Given the description of an element on the screen output the (x, y) to click on. 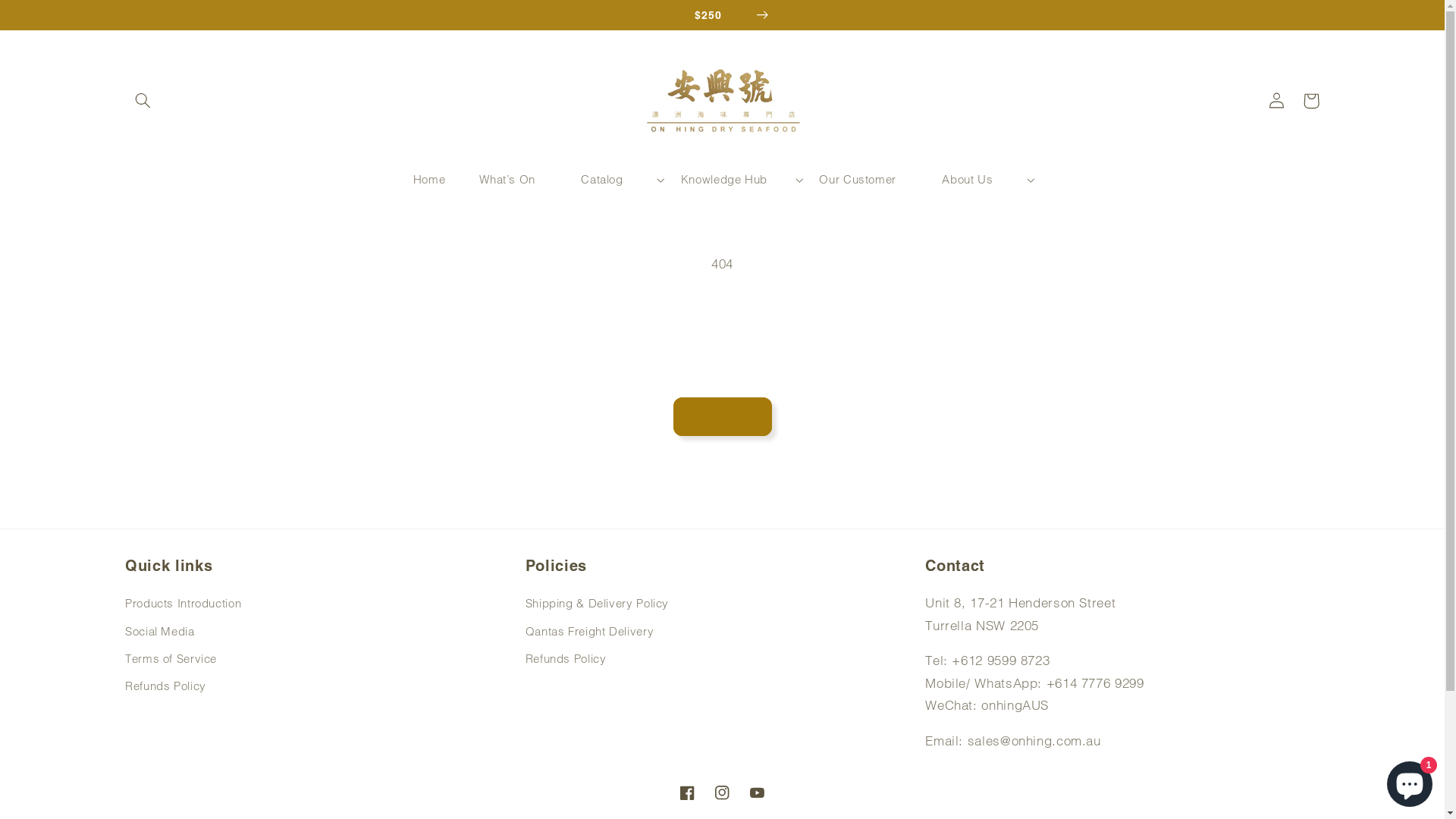
Instagram Element type: text (721, 792)
Facebook Element type: text (686, 792)
YouTube Element type: text (757, 792)
